Given the description of an element on the screen output the (x, y) to click on. 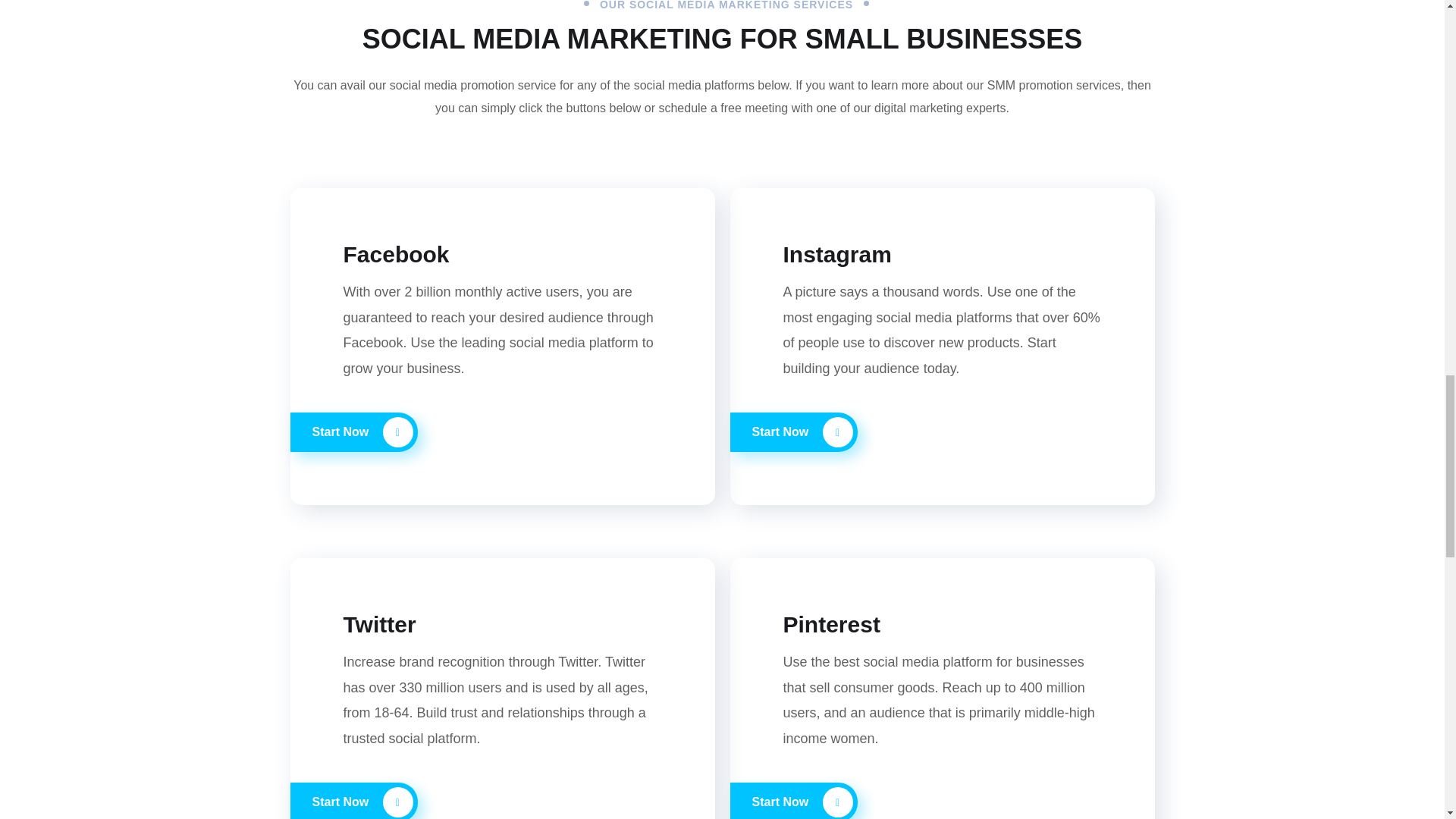
Start Now (352, 800)
Start Now (793, 432)
Start Now (352, 432)
Start Now (793, 800)
